Given the description of an element on the screen output the (x, y) to click on. 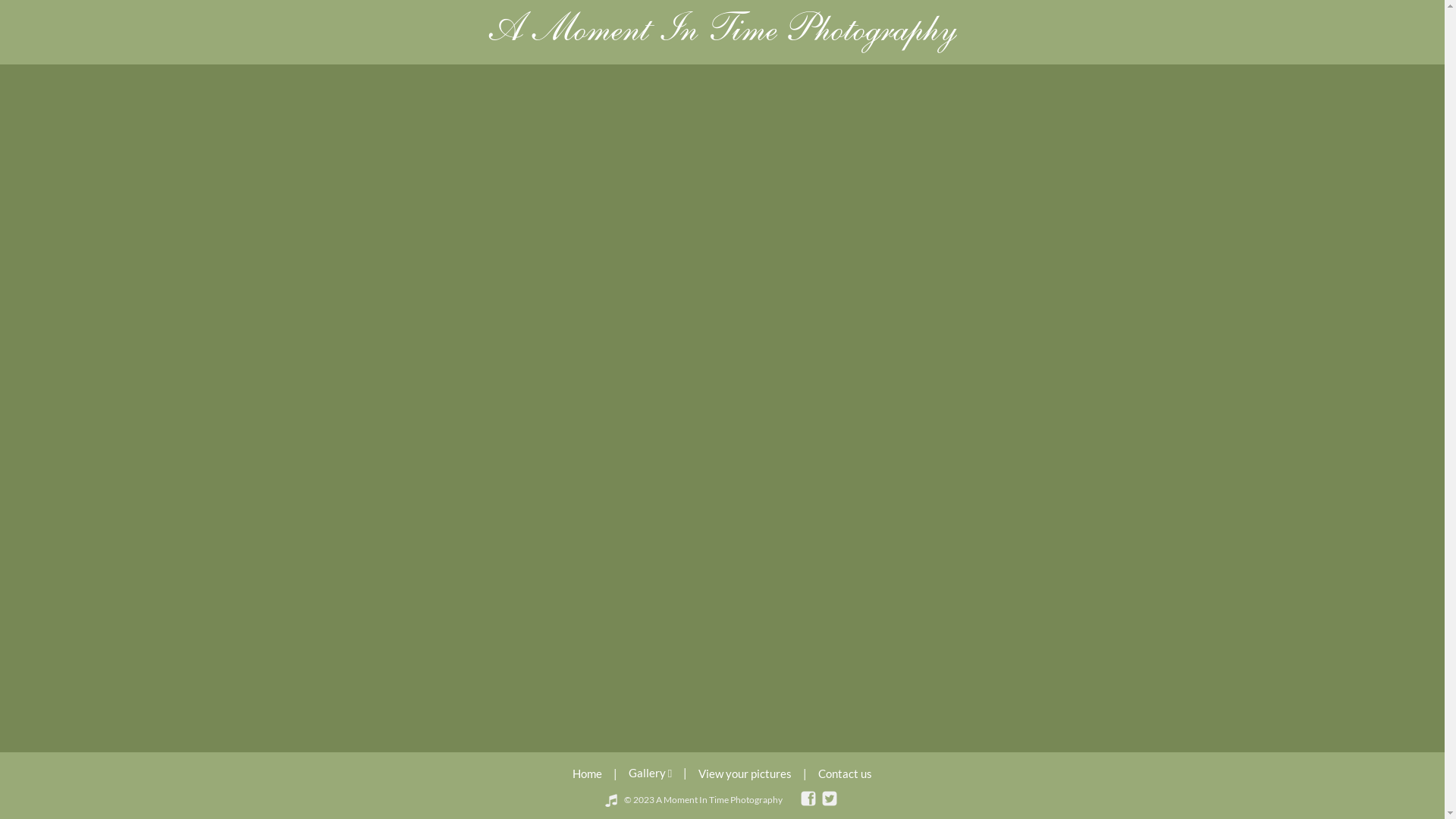
Contact us Element type: text (844, 773)
View your pictures Element type: text (745, 773)
Home Element type: text (587, 773)
